Given the description of an element on the screen output the (x, y) to click on. 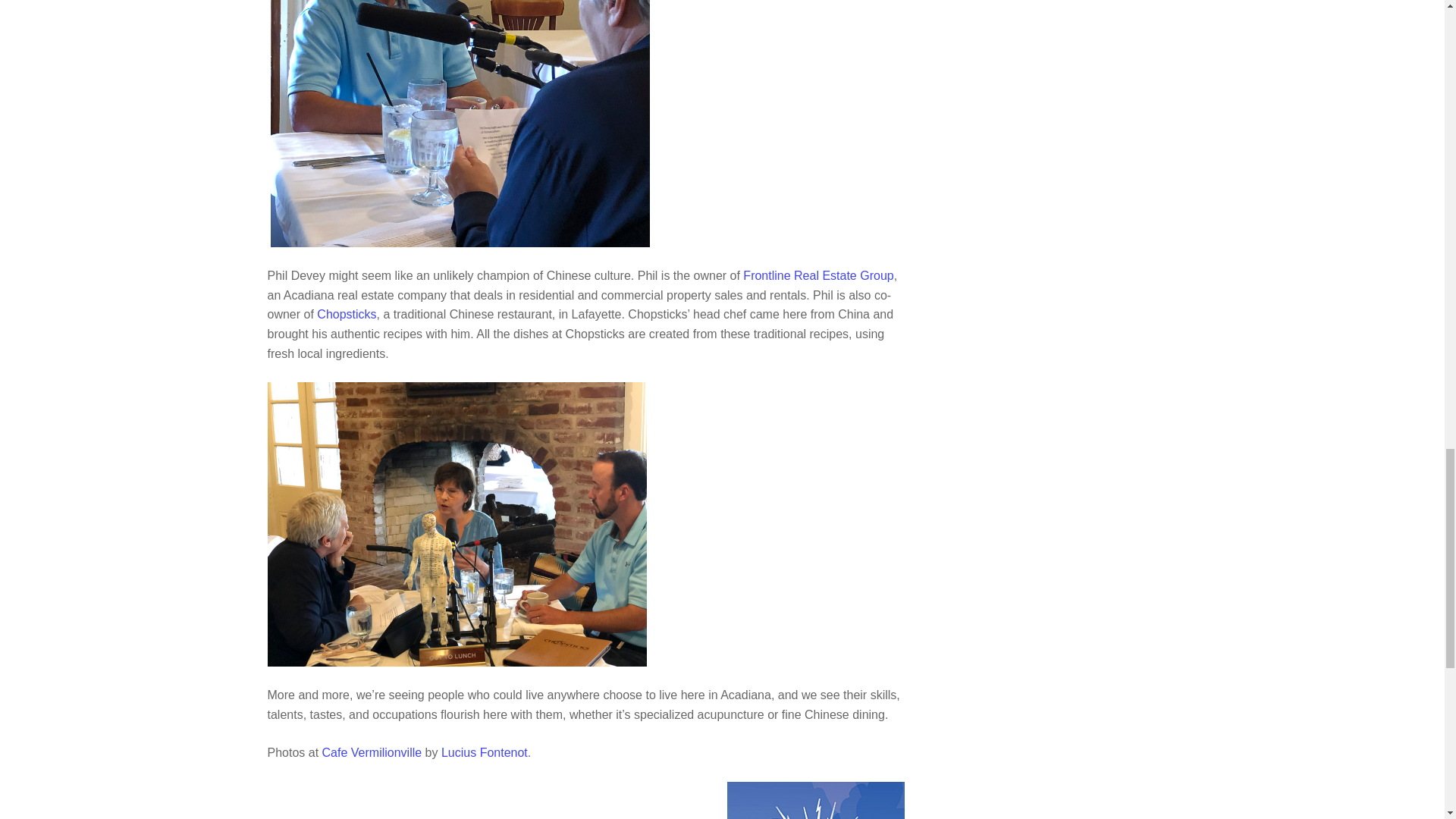
Chopsticks (345, 314)
Aileen Bennett, Anne Huval, Phil Devey (456, 524)
Phil Devey, Aileen Bennett (459, 123)
Cafe Vermilionville (373, 752)
Frontline Real Estate Group (817, 275)
Lucius Fontenot (484, 752)
